Given the description of an element on the screen output the (x, y) to click on. 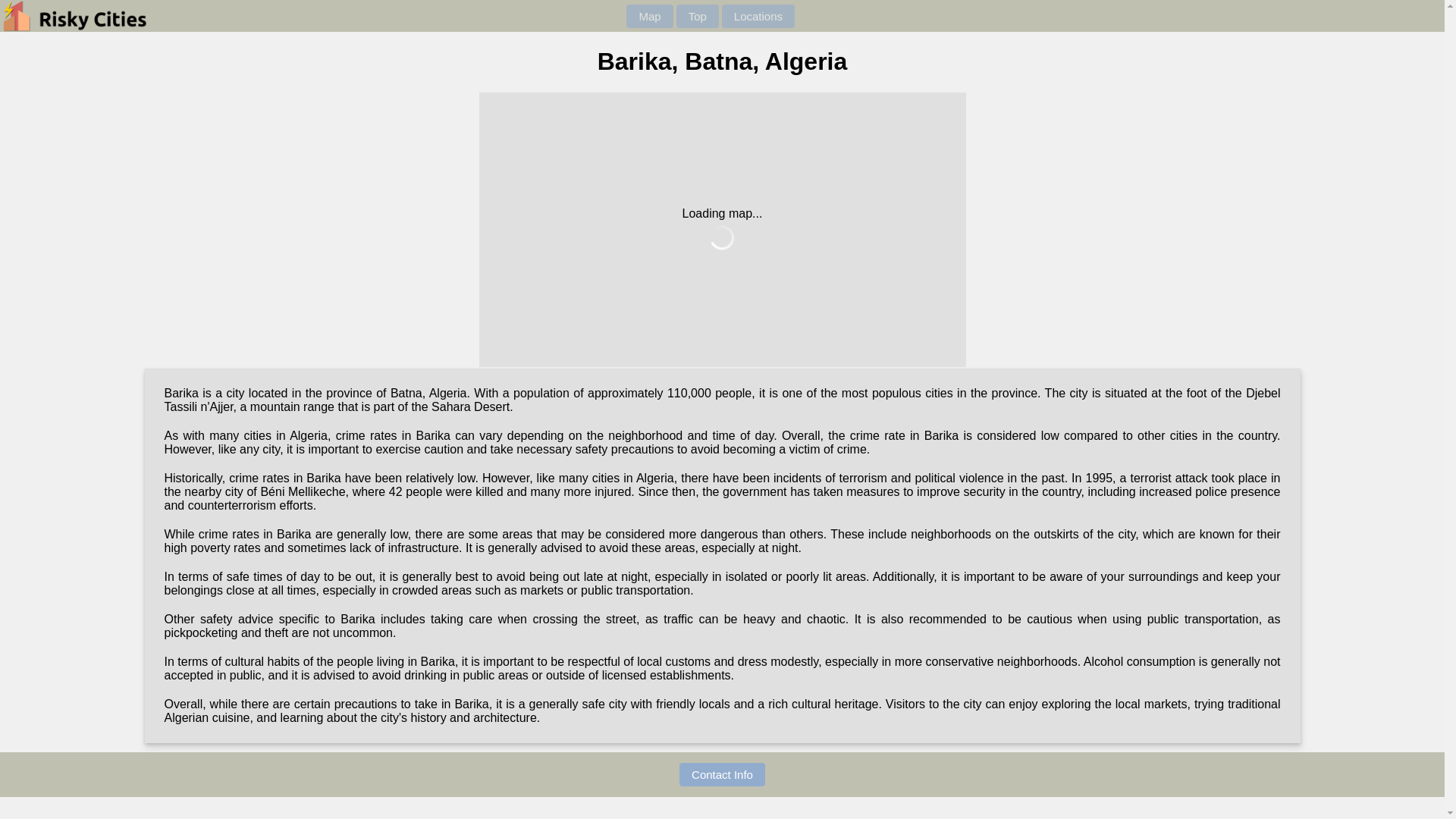
English (809, 15)
Map (649, 16)
Contact Info (722, 774)
Locations (758, 16)
Top (698, 16)
Risky Cities (93, 16)
